Given the description of an element on the screen output the (x, y) to click on. 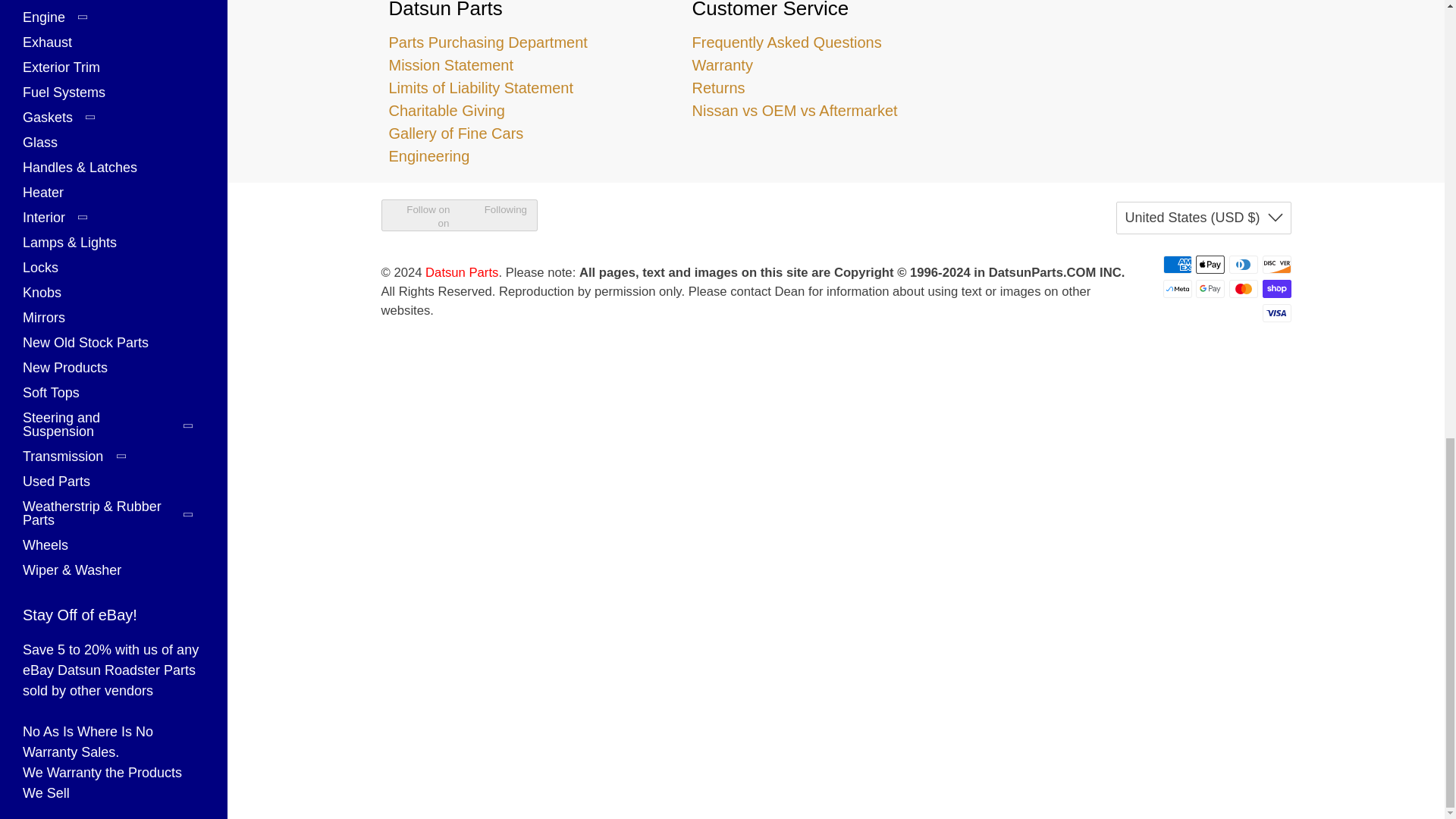
Visa (1276, 312)
Diners Club (1242, 264)
Mastercard (1242, 289)
American Express (1177, 264)
Shop Pay (1276, 289)
Datsun Parts (1138, 52)
Discover (1276, 264)
Apple Pay (1209, 264)
Meta Pay (1177, 289)
Google Pay (1209, 289)
